Given the description of an element on the screen output the (x, y) to click on. 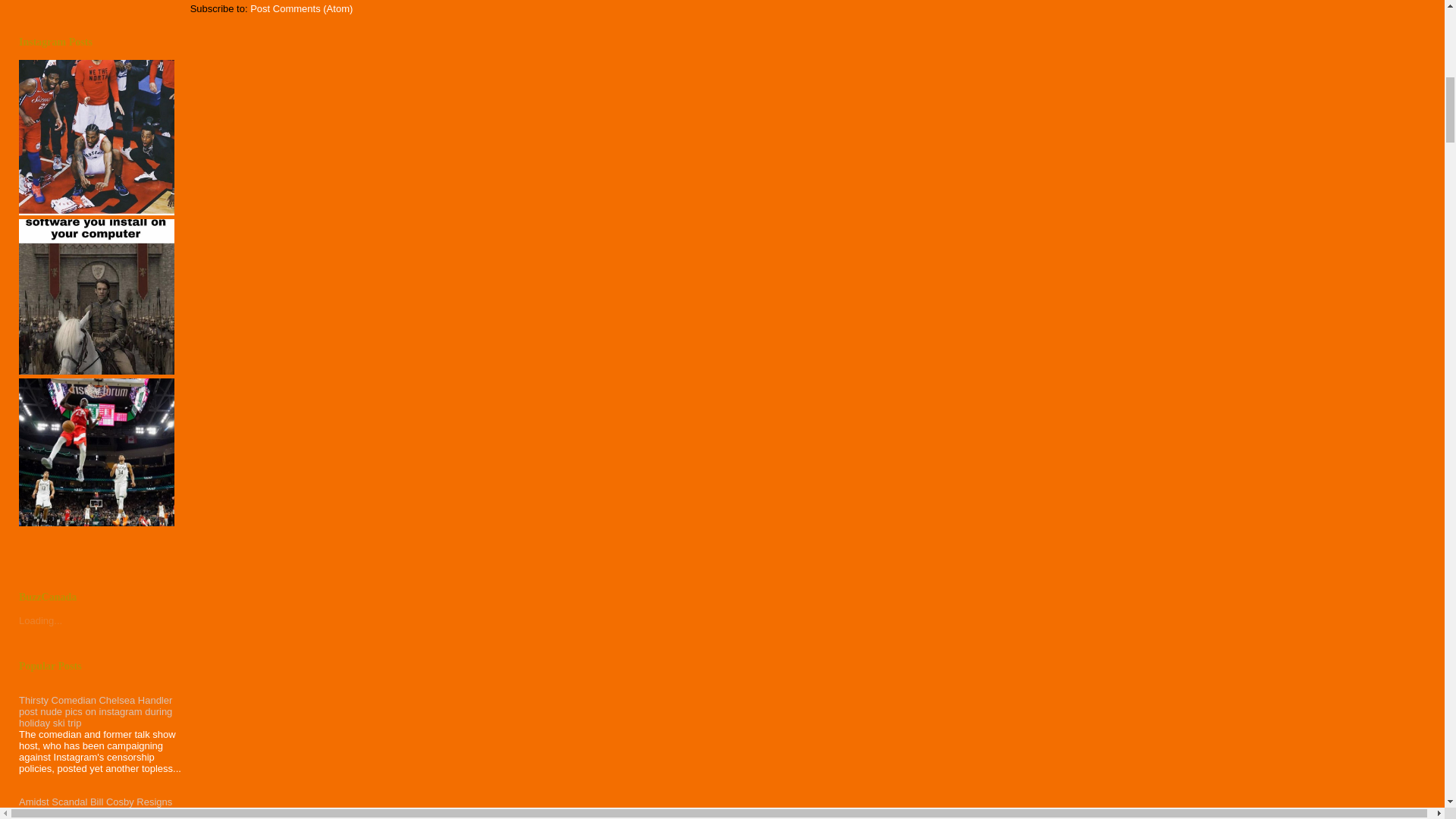
Loading... (40, 620)
